Given the description of an element on the screen output the (x, y) to click on. 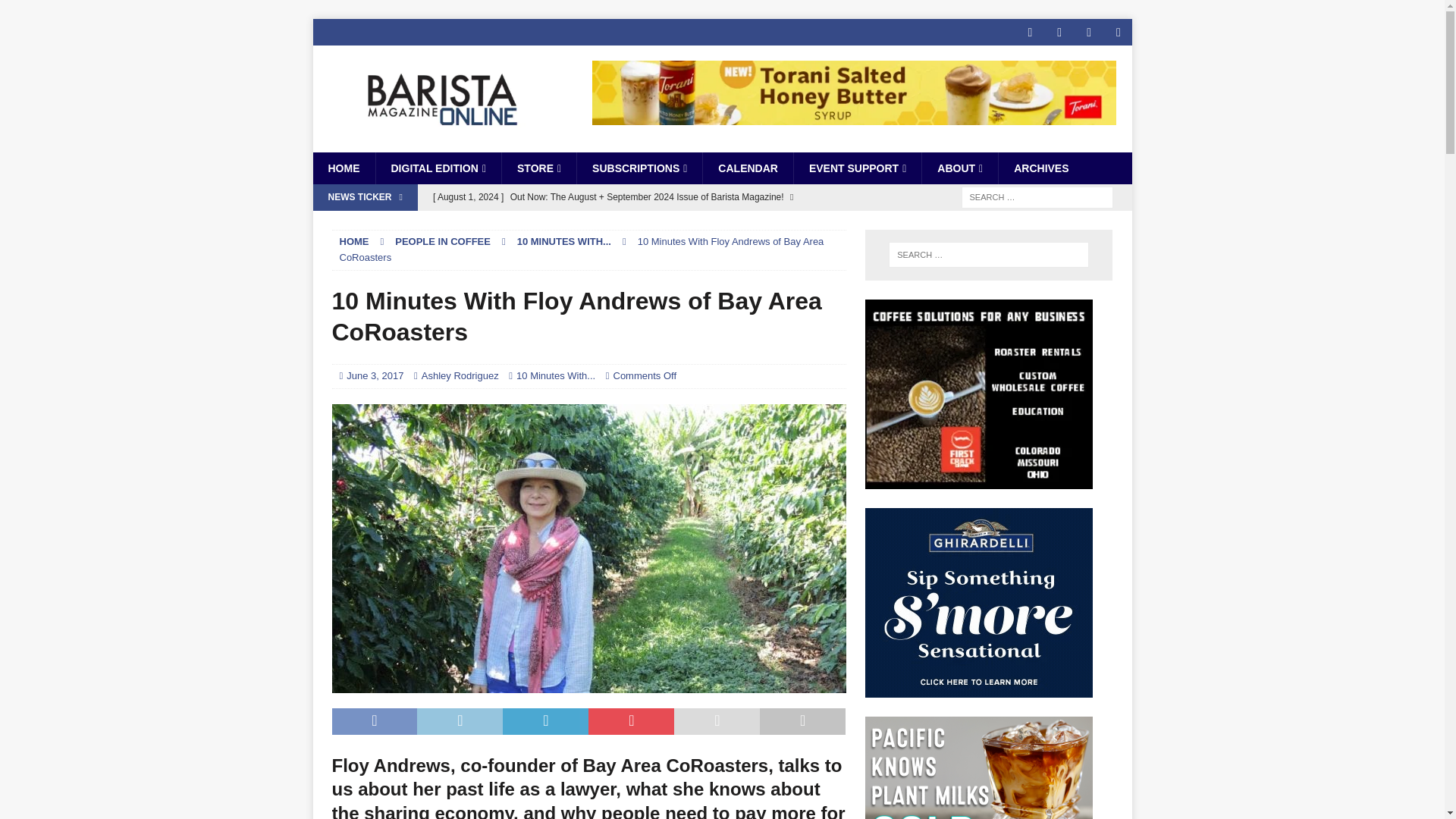
DIGITAL EDITION (437, 168)
HOME (343, 168)
